Given the description of an element on the screen output the (x, y) to click on. 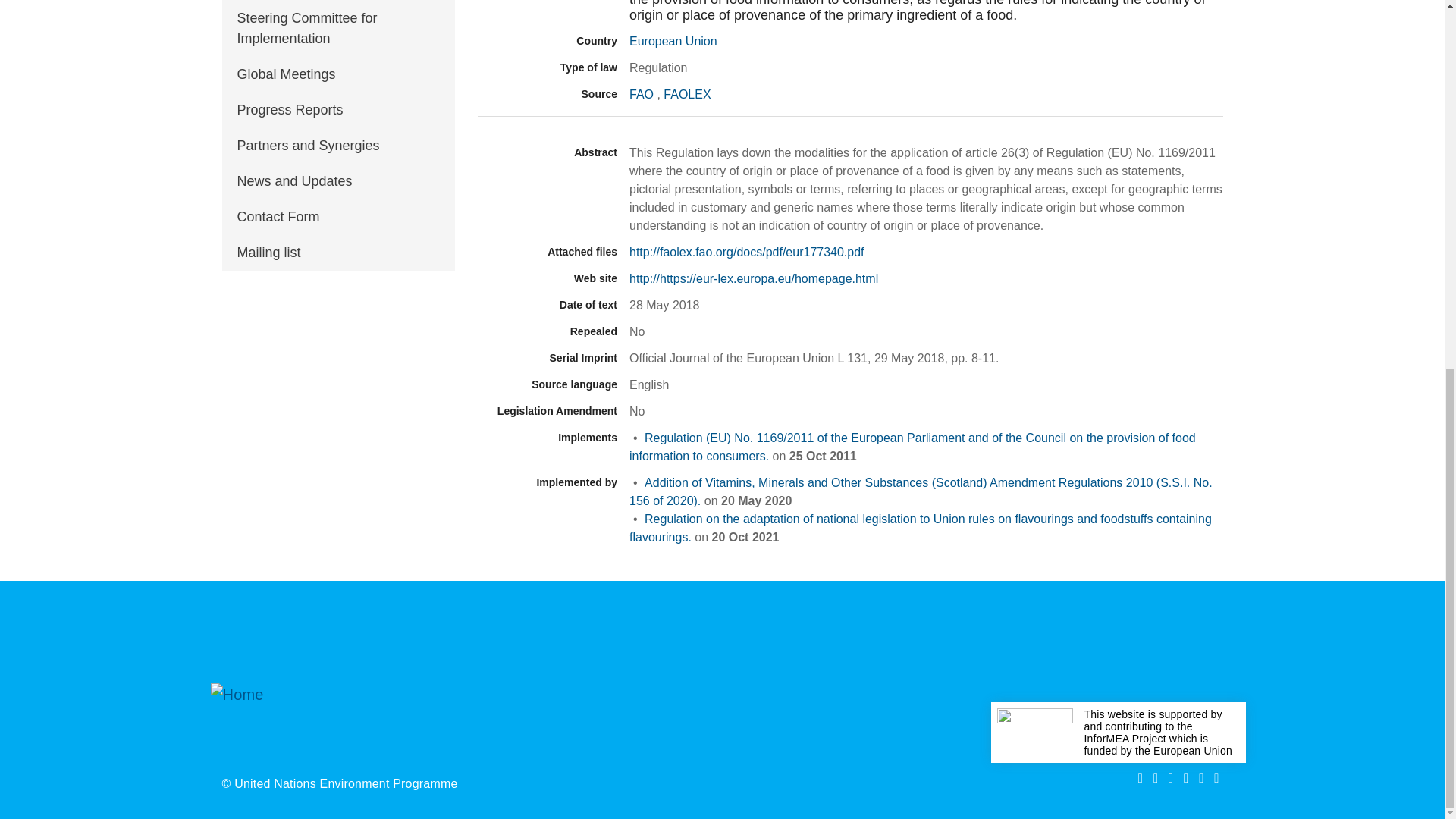
Click to read this legislation (919, 527)
Click to read this legislation (911, 446)
Home (252, 720)
Click to read this legislation (920, 490)
Legislation (547, 2)
